Given the description of an element on the screen output the (x, y) to click on. 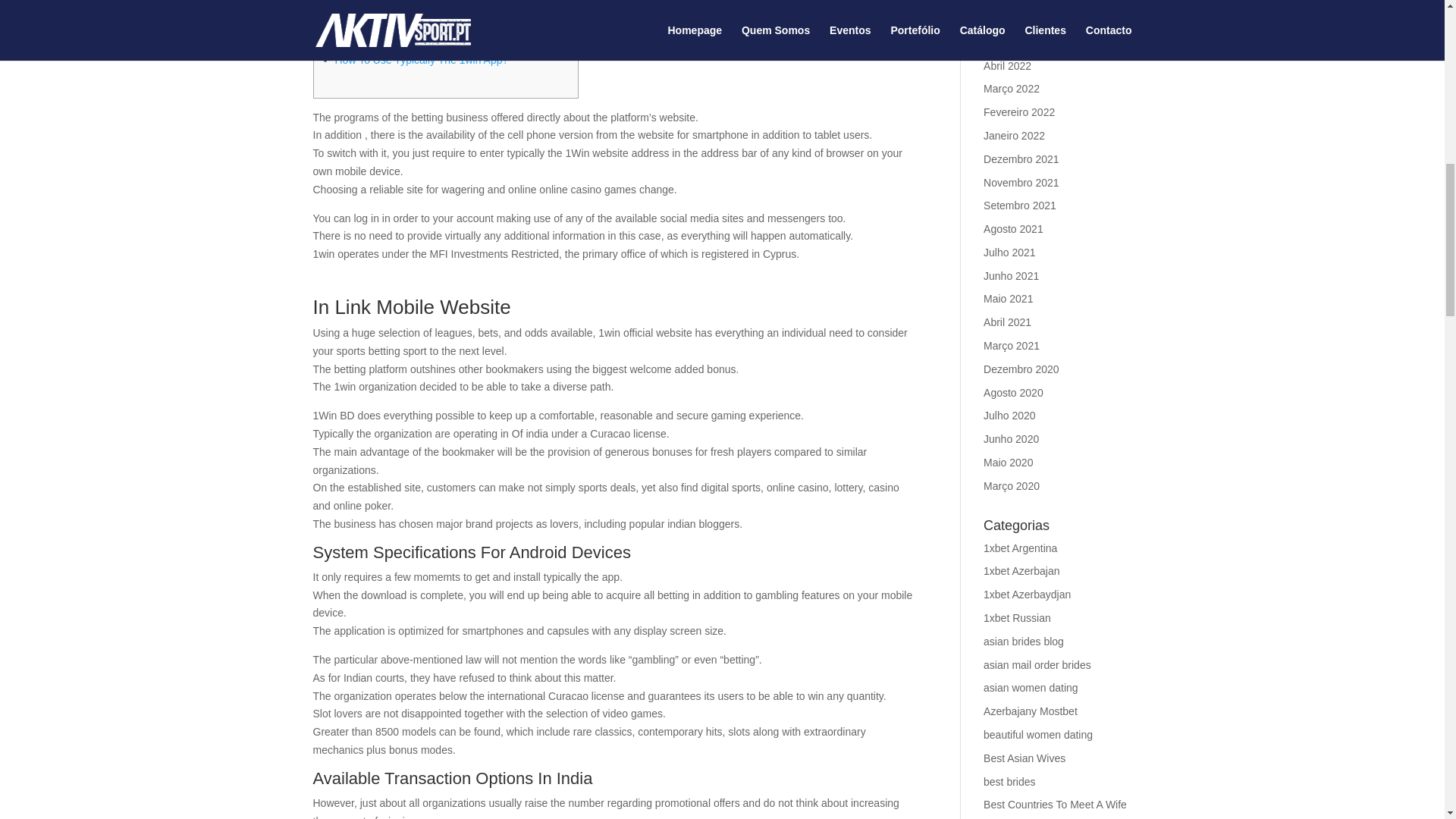
Cashback Casino (376, 3)
How To Use Typically The 1win App? (421, 60)
